Given the description of an element on the screen output the (x, y) to click on. 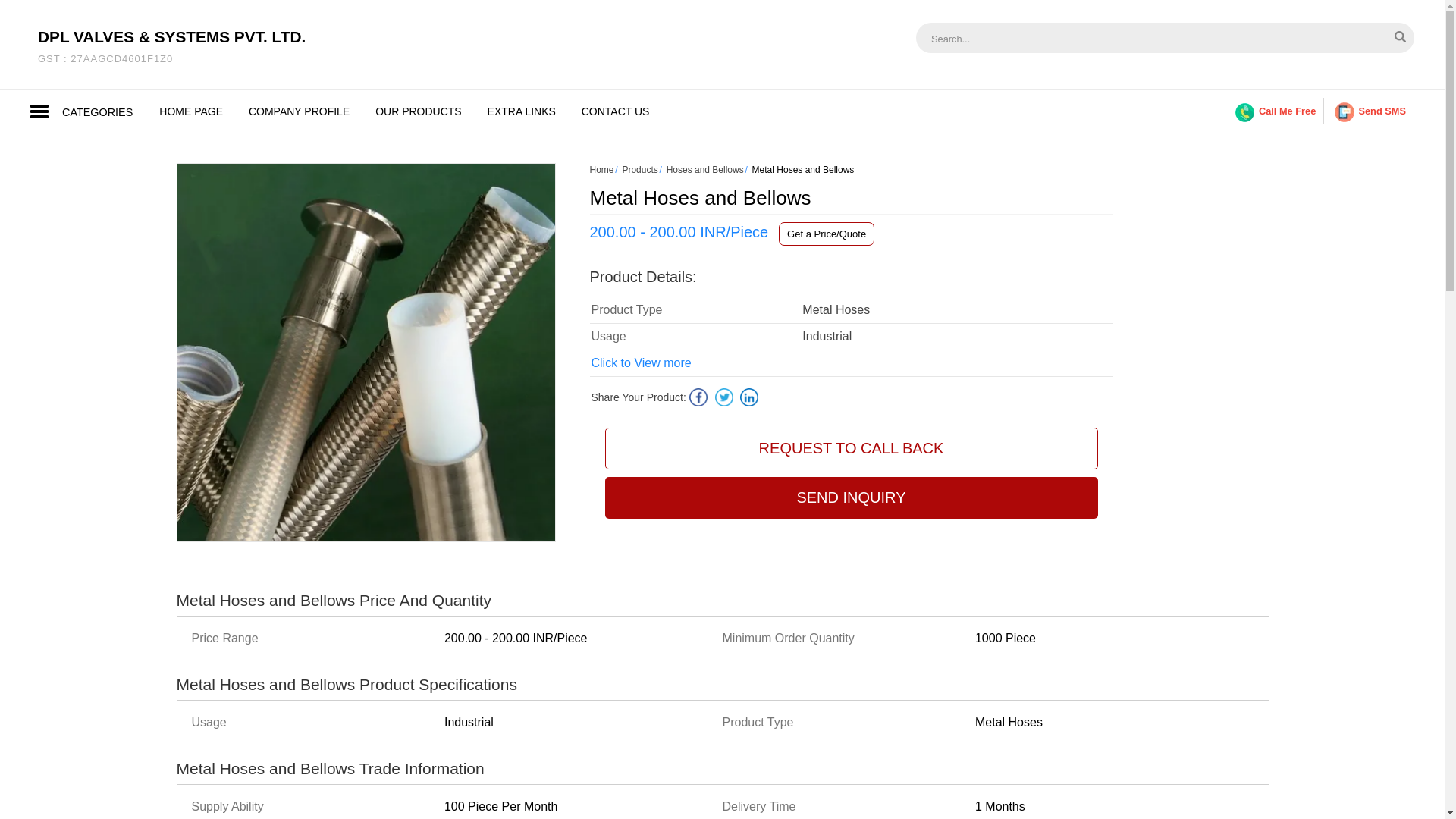
Contact Us (615, 111)
Search... (1119, 38)
EXTRA LINKS (521, 111)
OUR PRODUCTS (418, 111)
HOME PAGE (191, 111)
COMPANY PROFILE (299, 111)
CONTACT US (615, 111)
Call Me Free (1275, 110)
Send SMS (1369, 110)
